Given the description of an element on the screen output the (x, y) to click on. 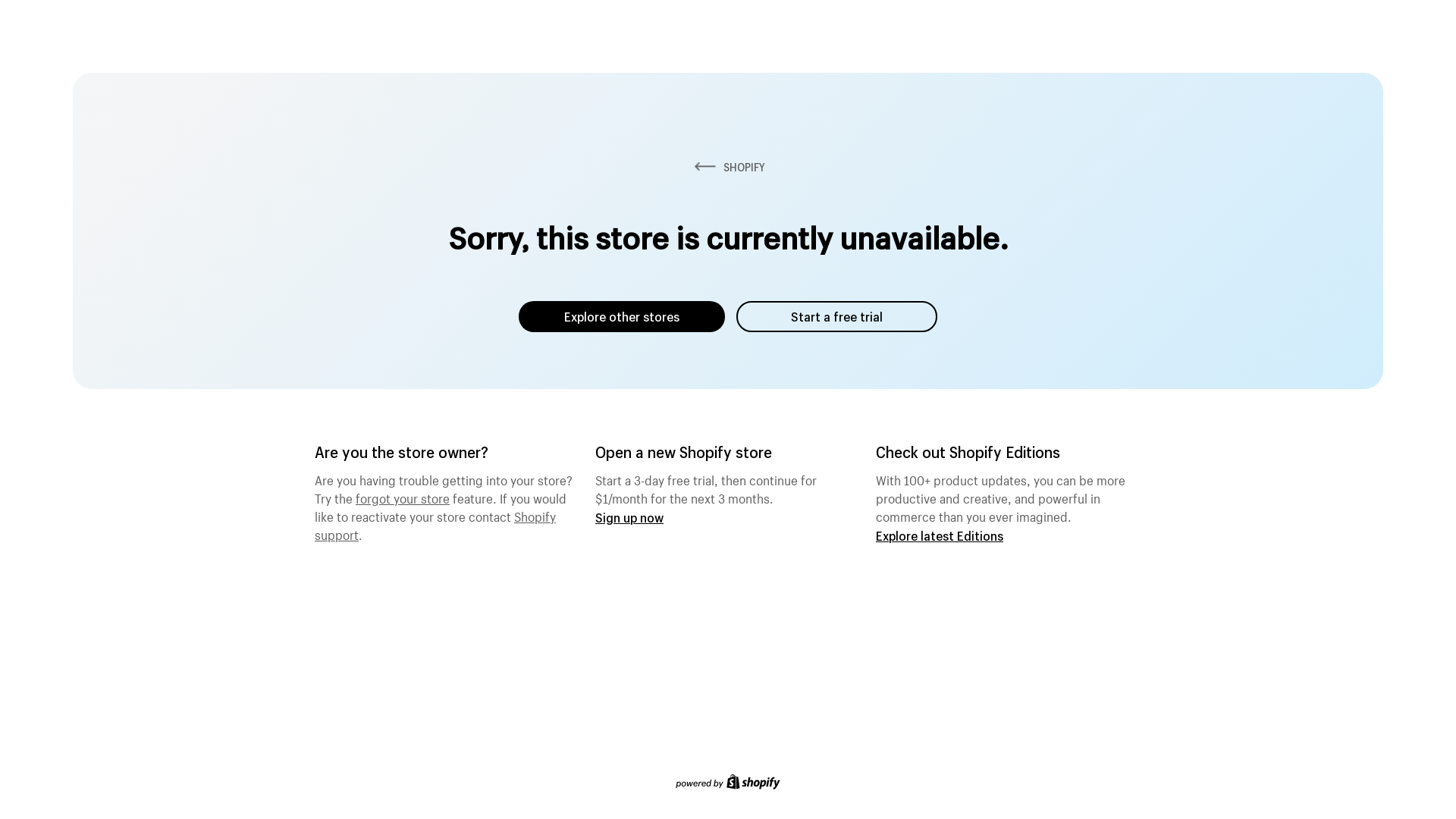
Explore latest Editions Element type: text (939, 535)
forgot your store Element type: text (402, 496)
SHOPIFY Element type: text (727, 167)
Sign up now Element type: text (629, 517)
Explore other stores Element type: text (621, 316)
Start a free trial Element type: text (836, 316)
Shopify support Element type: text (434, 523)
